Given the description of an element on the screen output the (x, y) to click on. 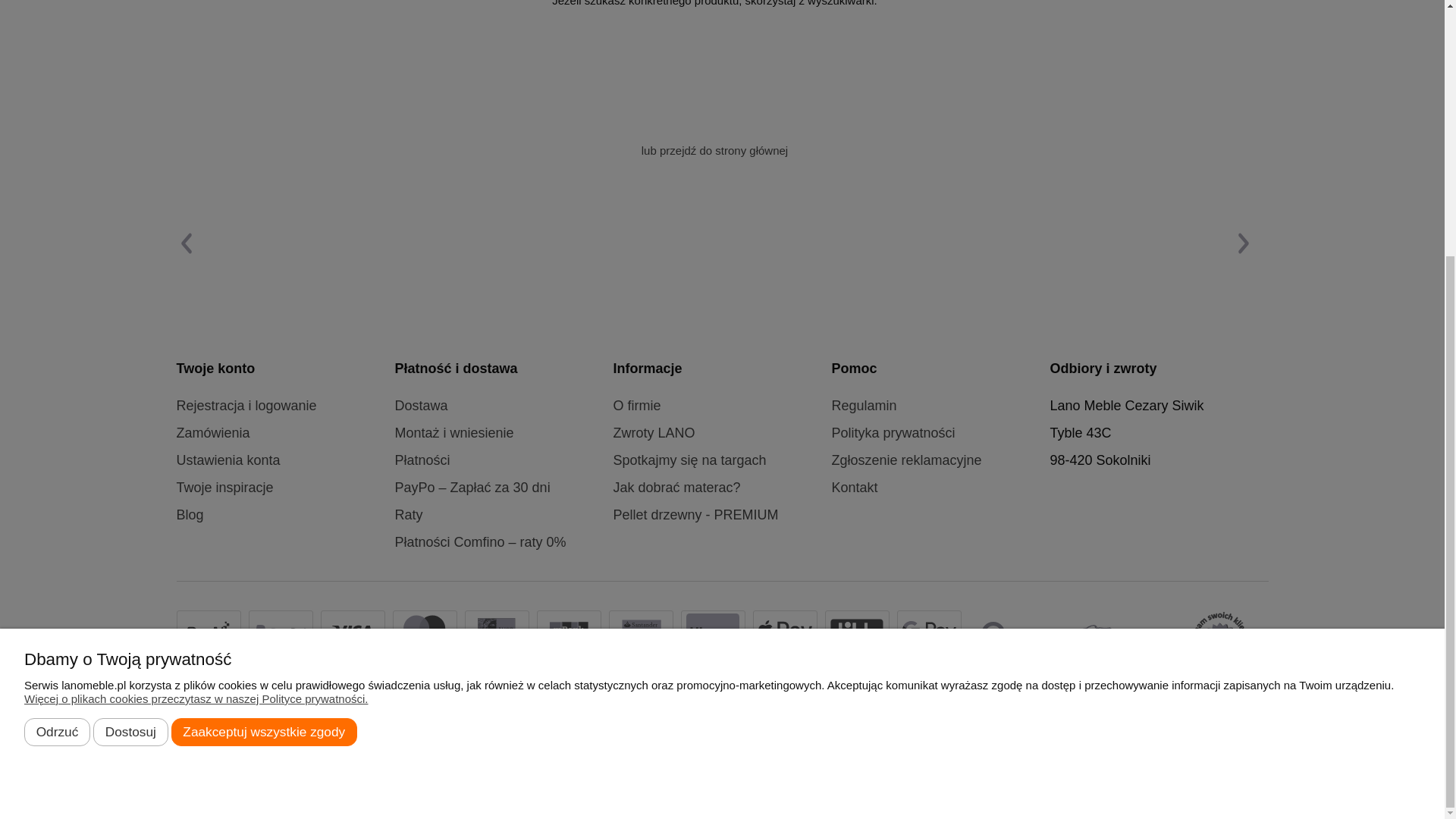
CONSUMER BANK (641, 631)
RATY ONLINE (496, 629)
